Given the description of an element on the screen output the (x, y) to click on. 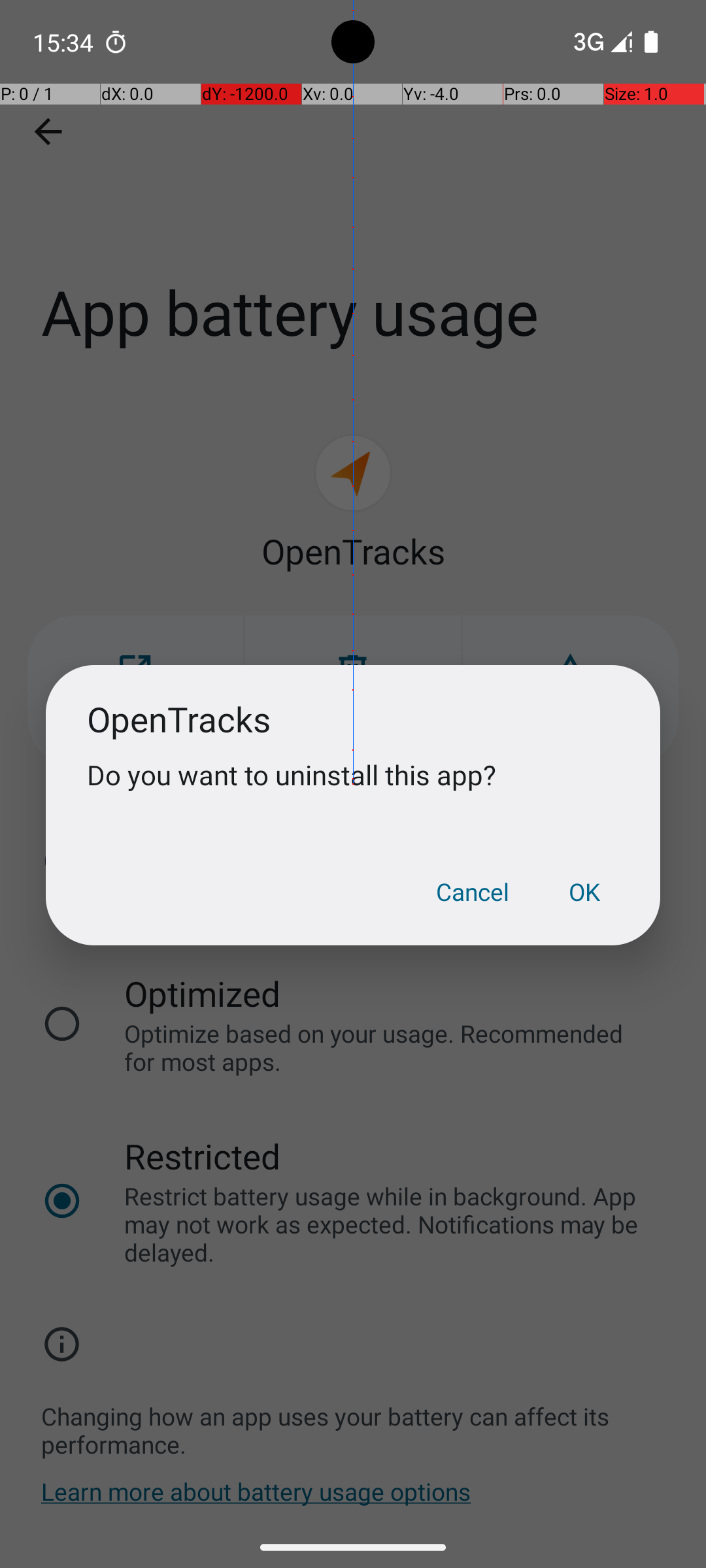
Do you want to uninstall this app? Element type: android.widget.TextView (352, 774)
